Given the description of an element on the screen output the (x, y) to click on. 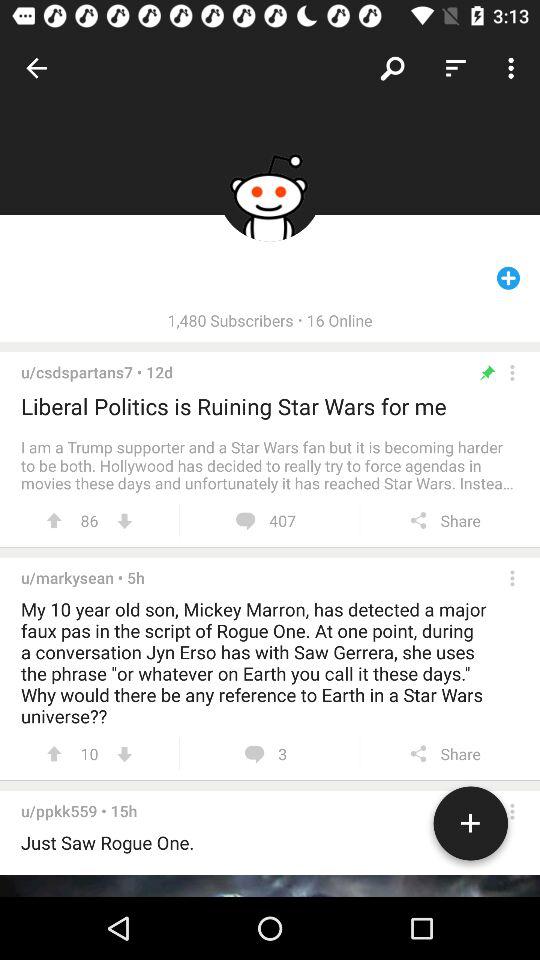
ellipsis toggle user info message history (512, 578)
